Given the description of an element on the screen output the (x, y) to click on. 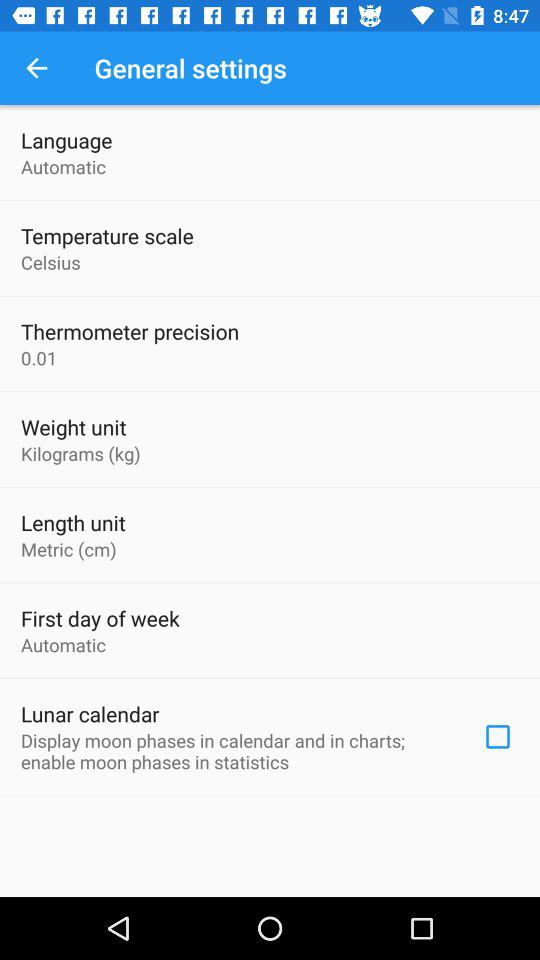
press the app next to the general settings (36, 68)
